Given the description of an element on the screen output the (x, y) to click on. 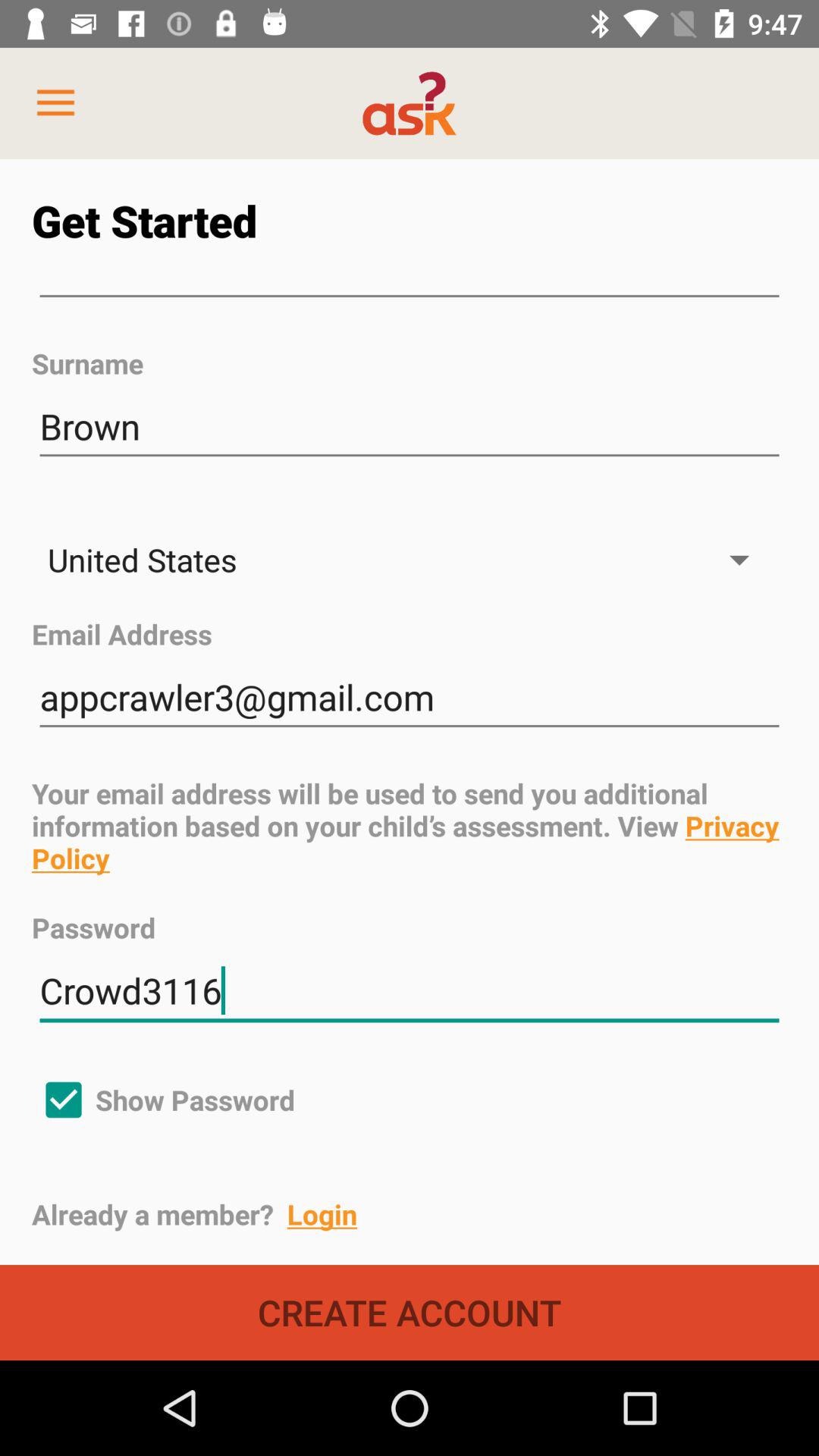
swipe until already a member (425, 1214)
